Given the description of an element on the screen output the (x, y) to click on. 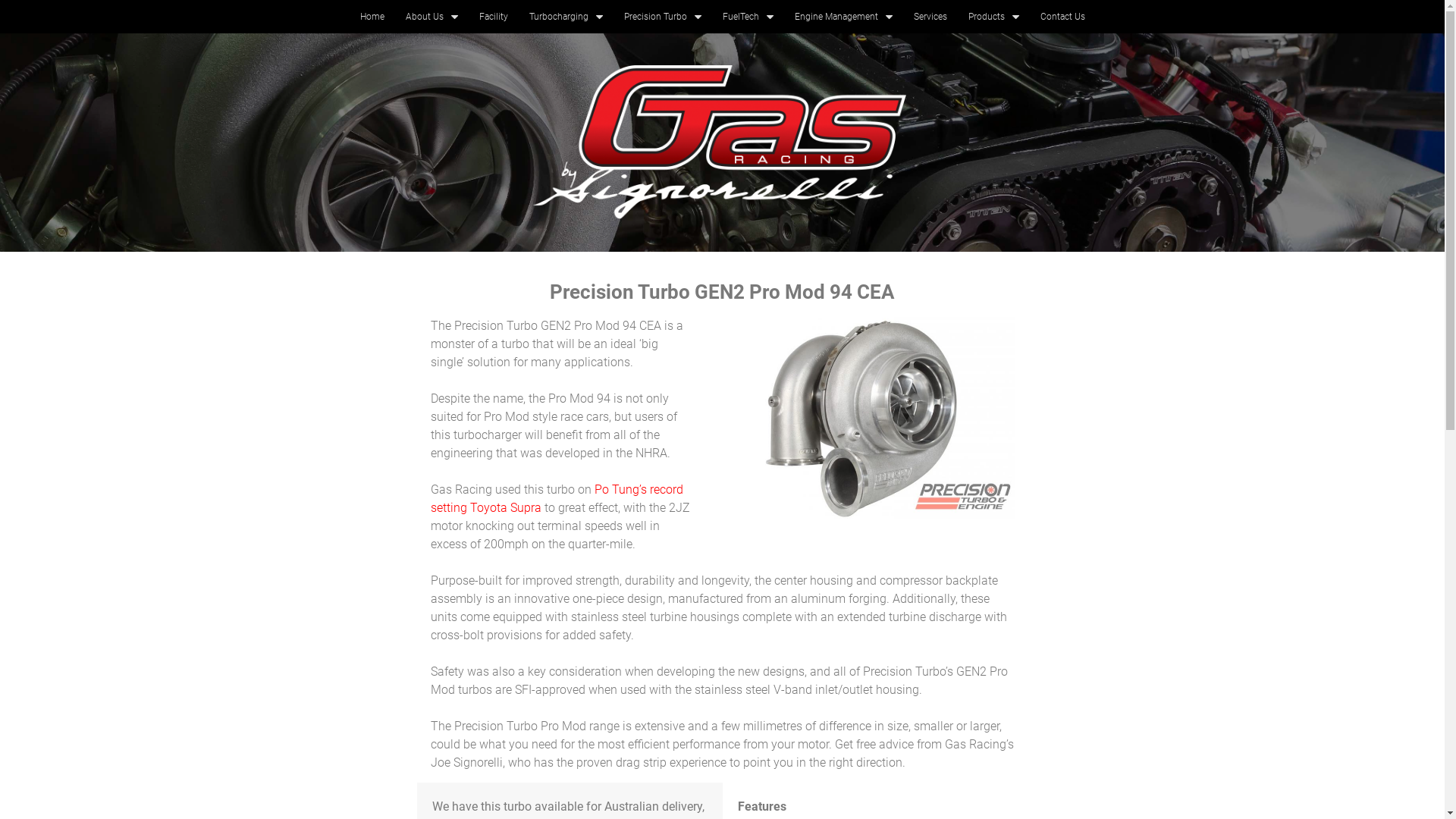
Facility Element type: text (493, 16)
Contact Us Element type: text (1062, 16)
FuelTech Element type: text (747, 16)
Home Element type: text (371, 16)
Engine Management Element type: text (843, 16)
About Us Element type: text (430, 16)
Precision Turbo Element type: text (661, 16)
Turbocharging Element type: text (565, 16)
Services Element type: text (929, 16)
Products Element type: text (993, 16)
